Given the description of an element on the screen output the (x, y) to click on. 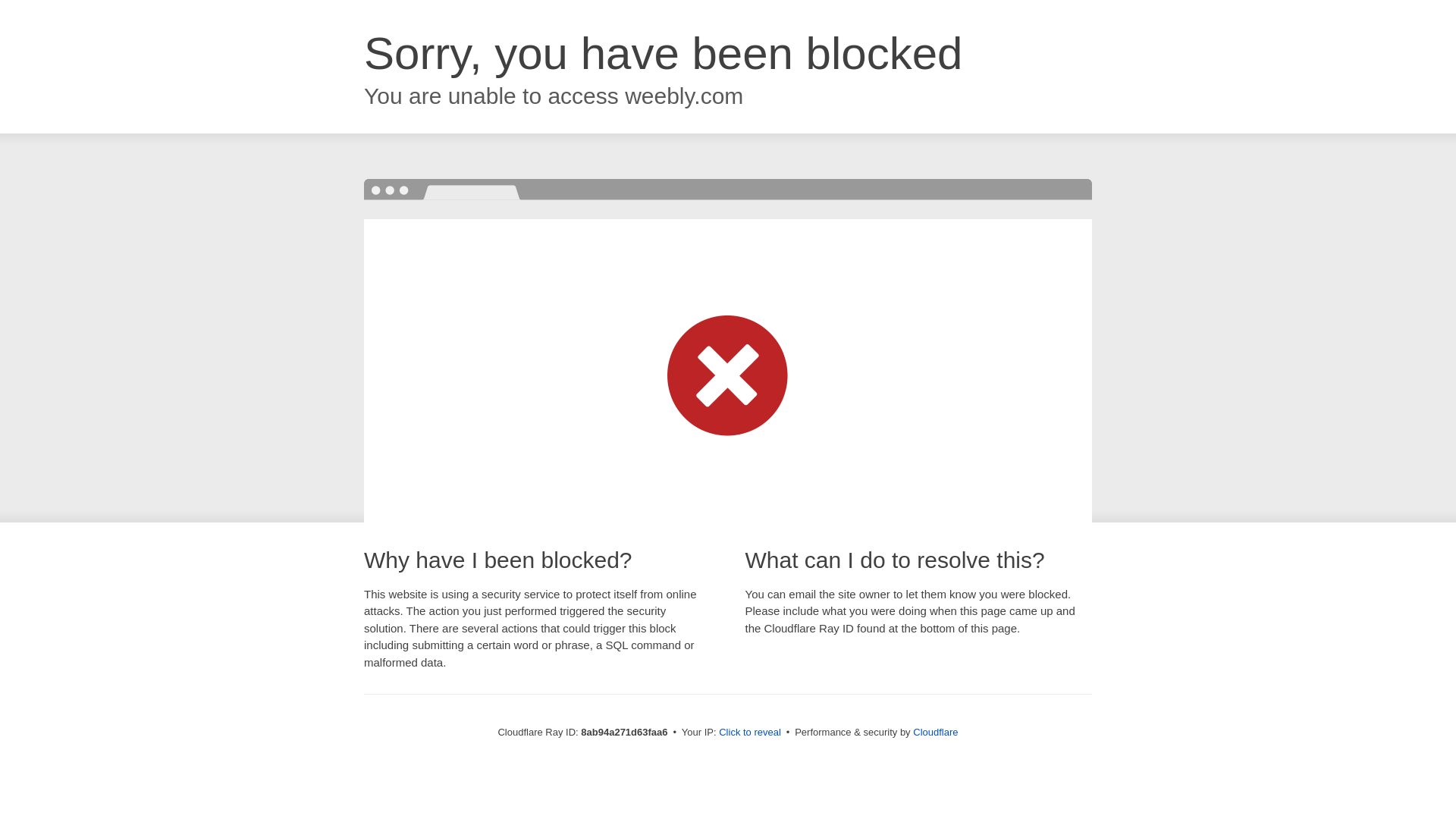
Cloudflare (935, 731)
Click to reveal (749, 732)
